Given the description of an element on the screen output the (x, y) to click on. 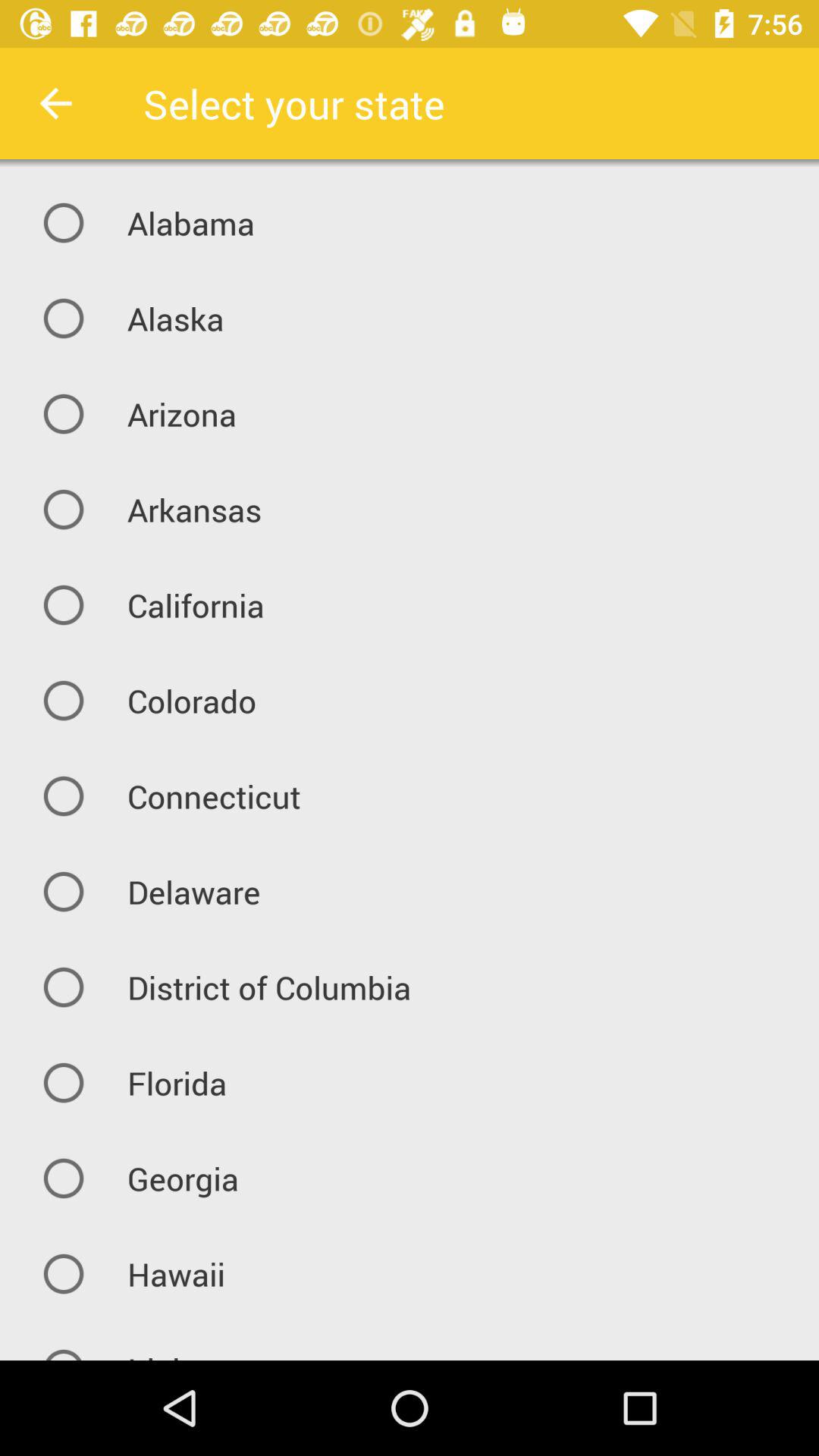
choose the item to the left of the select your state icon (55, 103)
